Given the description of an element on the screen output the (x, y) to click on. 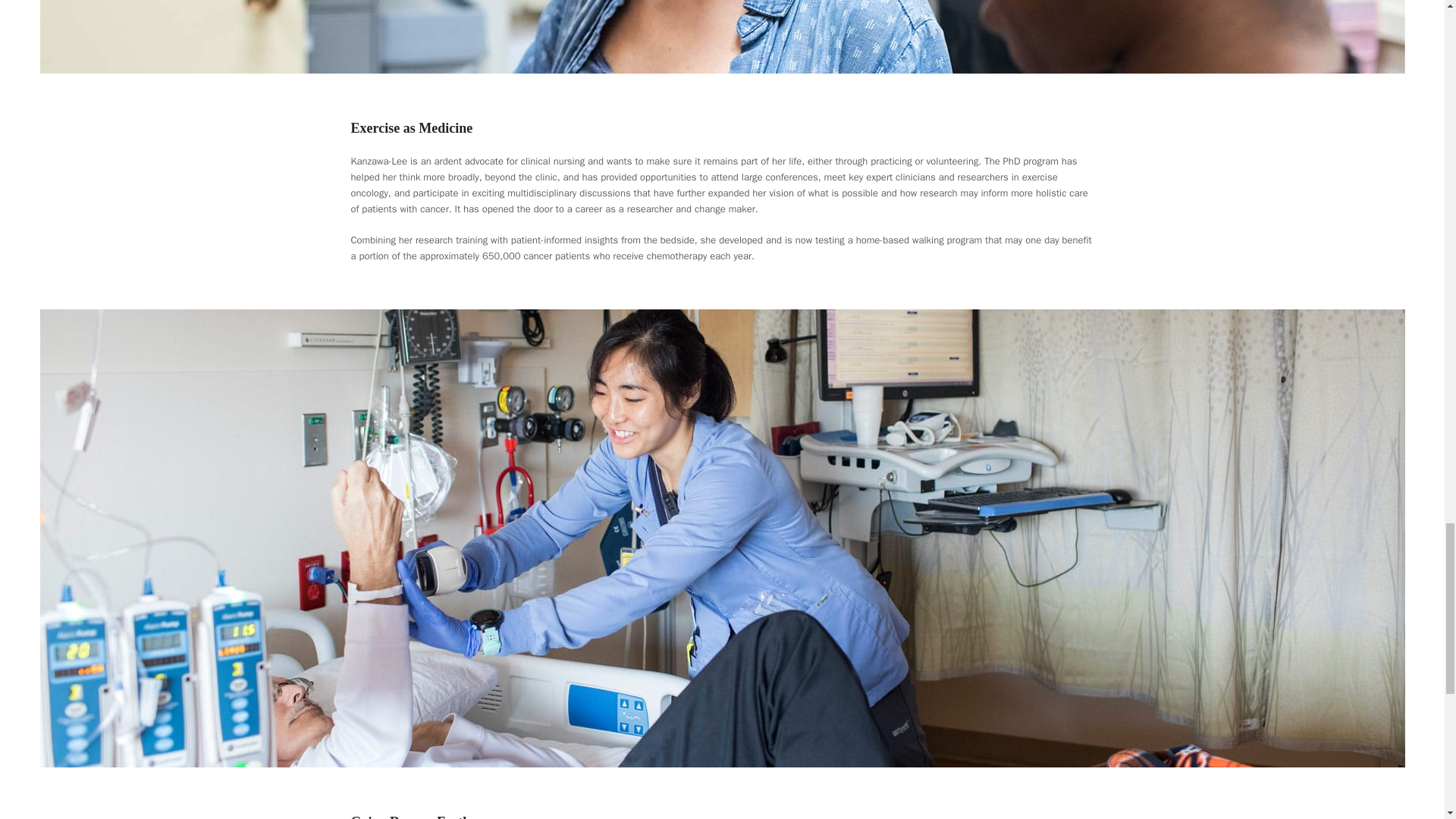
Big Steps in the Right Direction (722, 36)
